Given the description of an element on the screen output the (x, y) to click on. 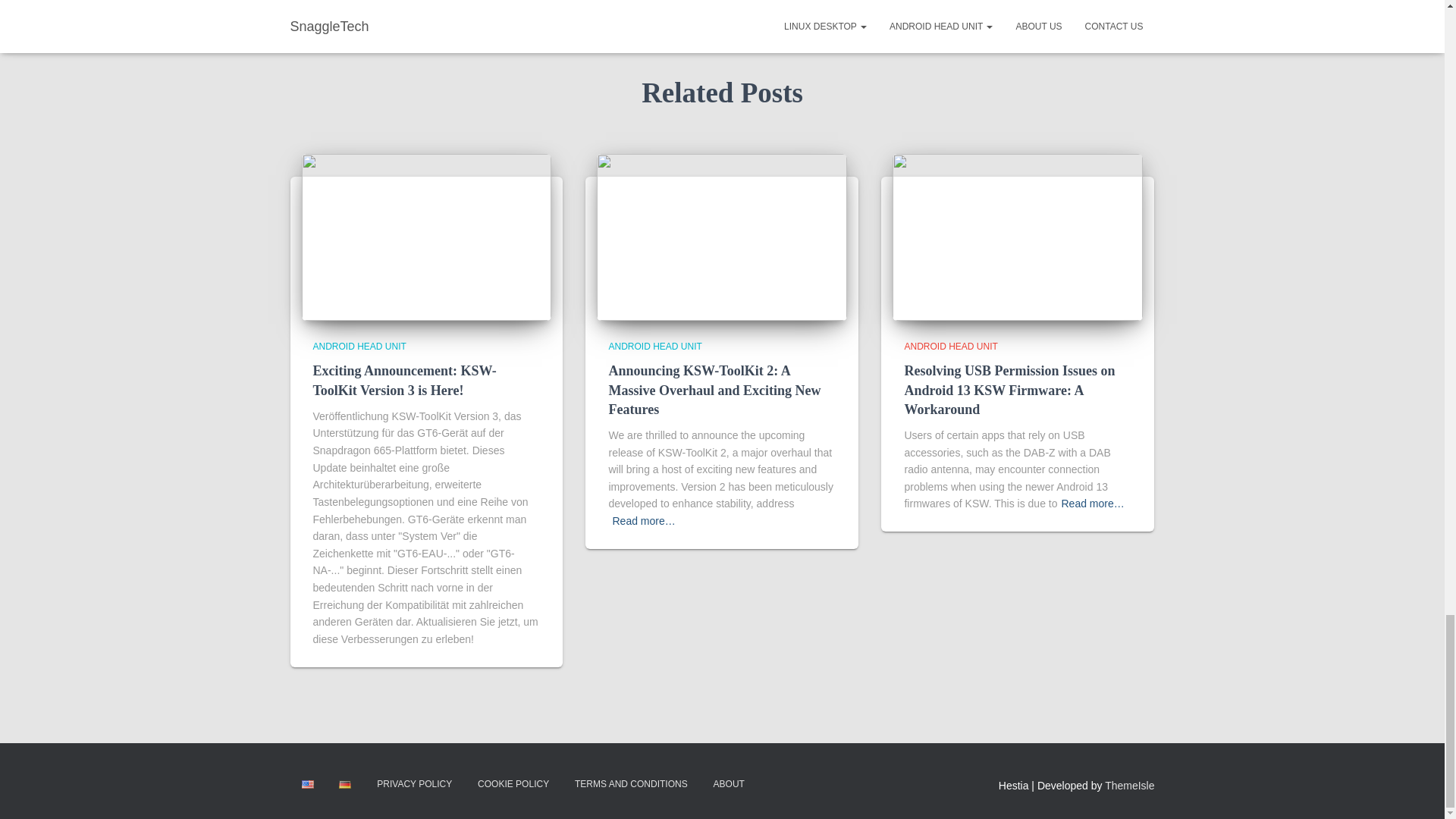
Exciting Announcement: KSW-ToolKit Version 3 is Here! (404, 380)
View all posts in Android Head Unit (654, 346)
Exciting Announcement: KSW-ToolKit Version 3 is Here! (426, 236)
View all posts in Android Head Unit (359, 346)
ANDROID HEAD UNIT (359, 346)
Exciting Announcement: KSW-ToolKit Version 3 is Here! (404, 380)
ANDROID HEAD UNIT (654, 346)
